Given the description of an element on the screen output the (x, y) to click on. 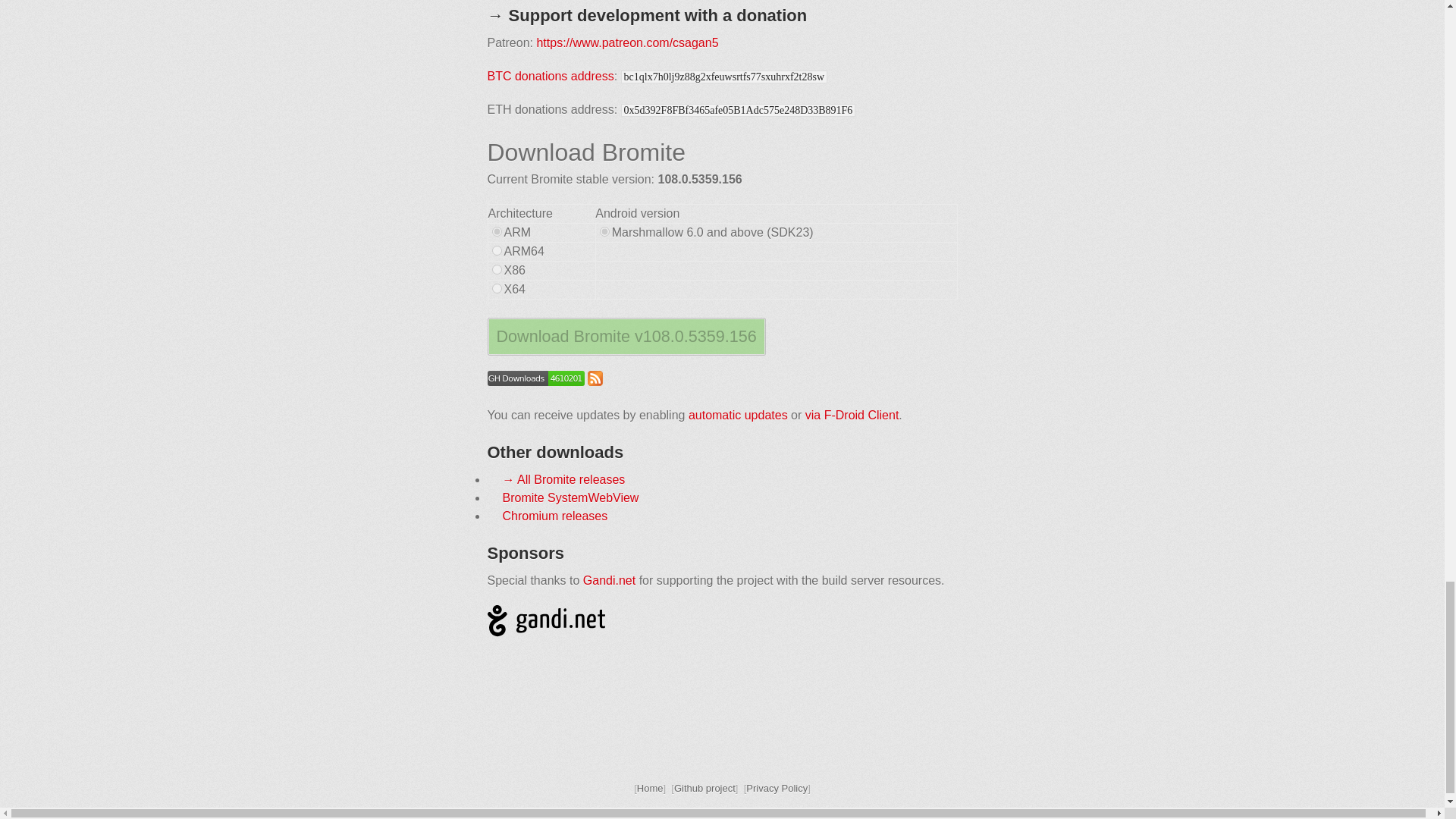
Privacy Policy (776, 787)
Bromite SystemWebView (570, 497)
automatic updates (737, 414)
x64 (496, 288)
Chromium releases (554, 515)
BTC donations address (549, 75)
Home (650, 787)
Gandi.net (608, 580)
Bromite Github releases (534, 381)
arm (496, 231)
